Given the description of an element on the screen output the (x, y) to click on. 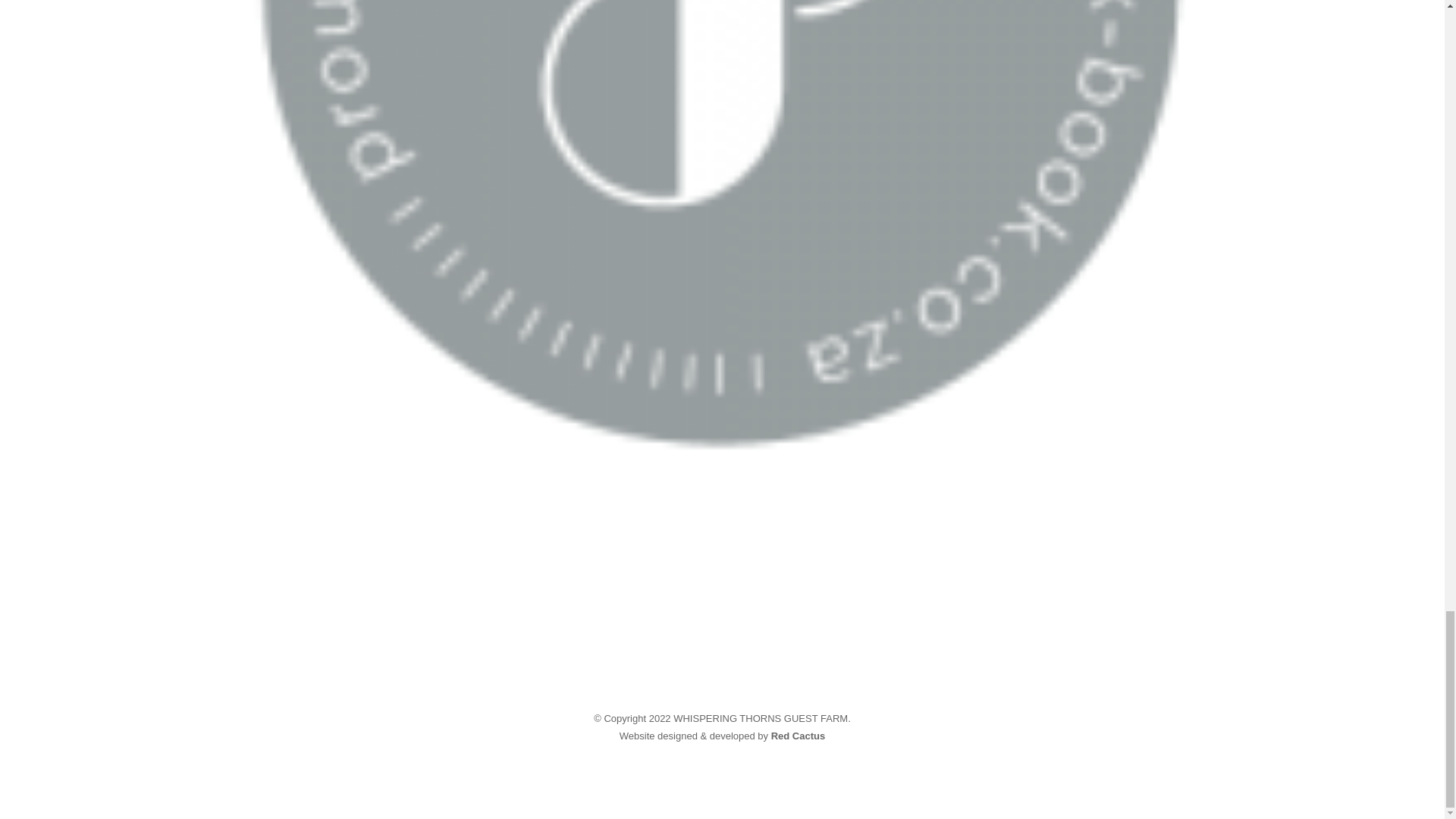
Red Cactus (798, 736)
